Given the description of an element on the screen output the (x, y) to click on. 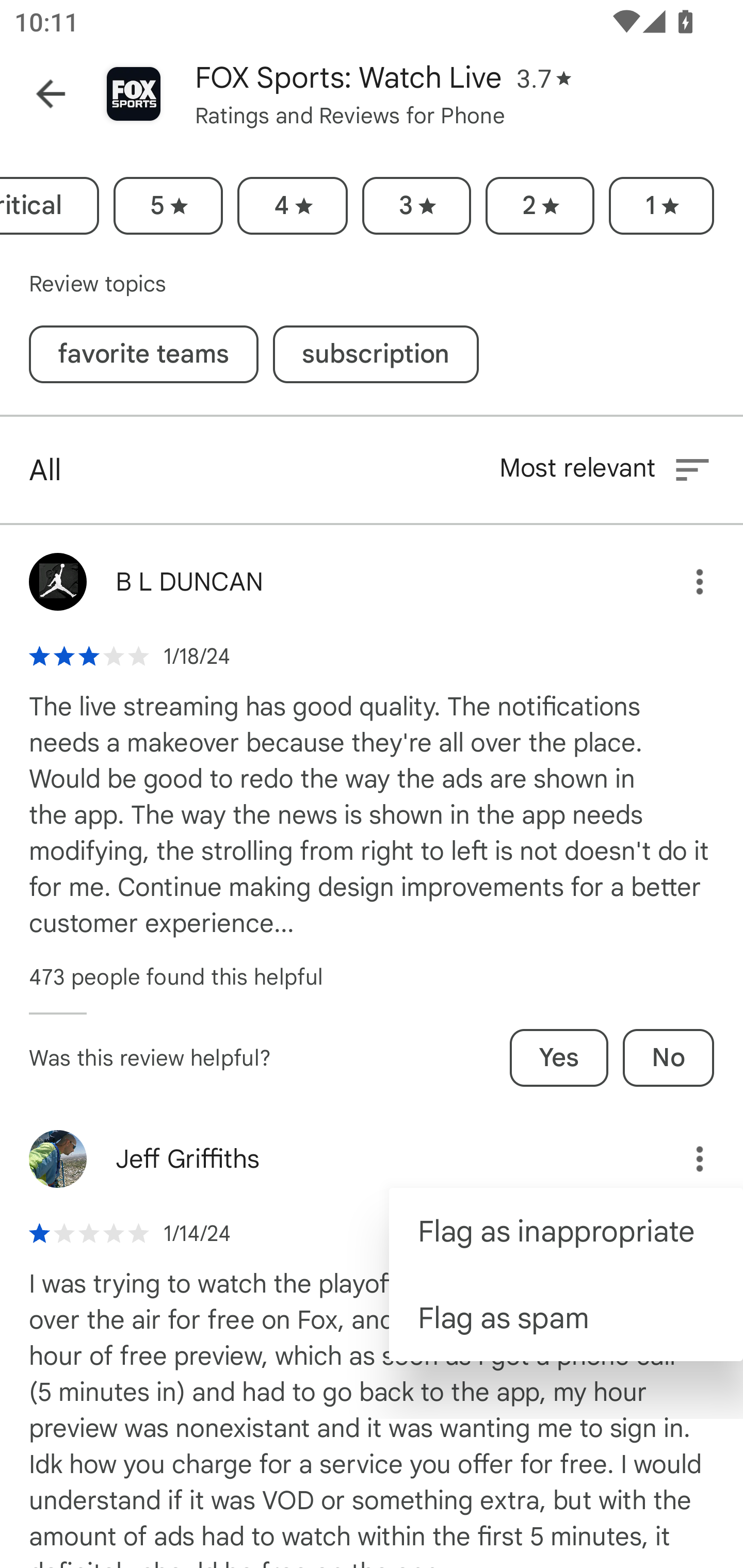
Flag as inappropriate (566, 1231)
Flag as spam (566, 1317)
